Given the description of an element on the screen output the (x, y) to click on. 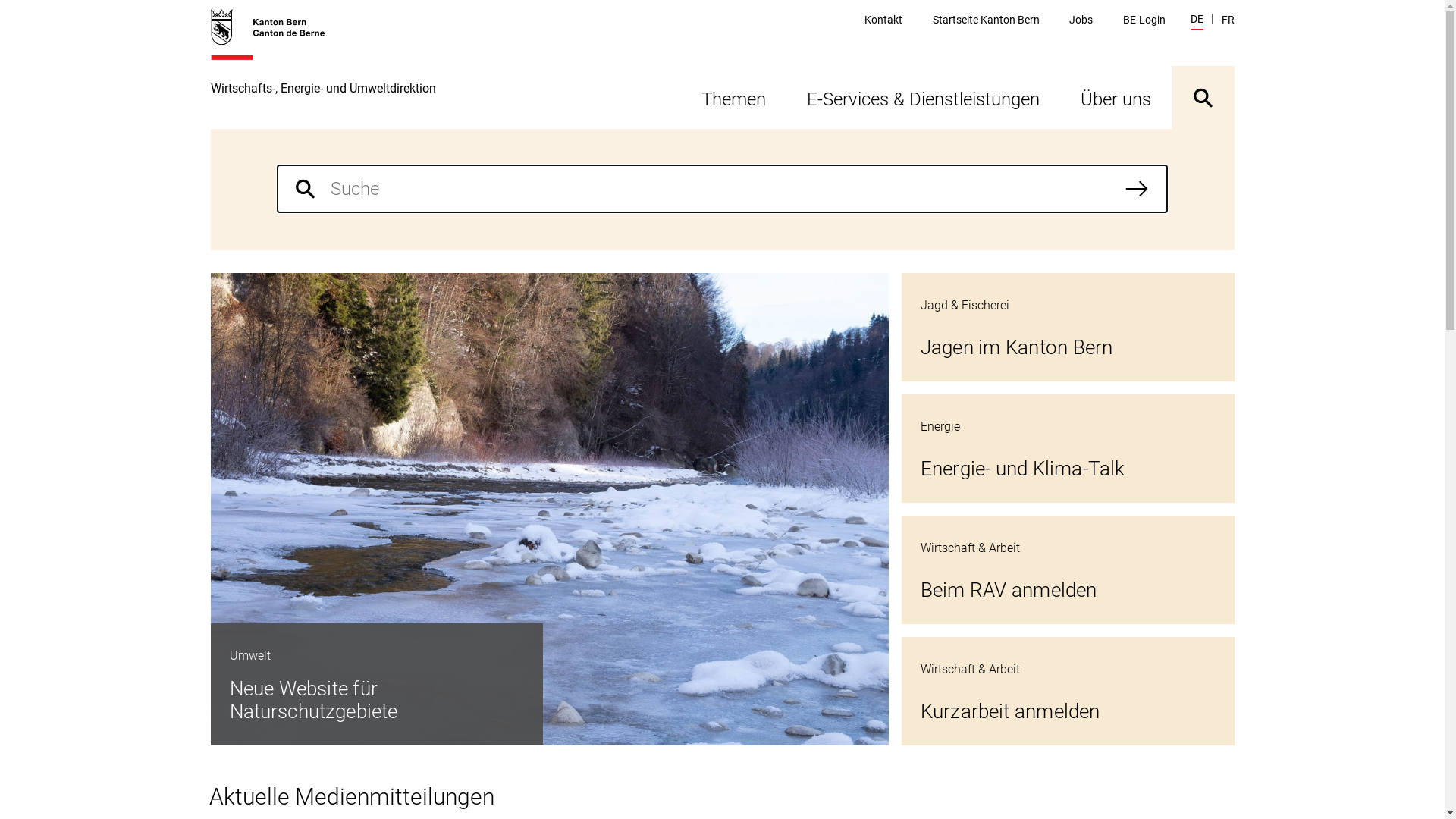
Energie- und Klima-Talk
Energie Element type: text (1067, 448)
Kontakt Element type: text (883, 19)
Jagen im Kanton Bern
Jagd & Fischerei Element type: text (1067, 327)
FR Element type: text (1226, 19)
Kurzarbeit anmelden
Wirtschaft & Arbeit Element type: text (1067, 691)
Suche ein- oder ausblenden Element type: text (1201, 96)
BE-Login Element type: text (1144, 19)
DE Element type: text (1196, 21)
Themen Element type: text (733, 96)
Jobs Element type: text (1080, 19)
Startseite Kanton Bern Element type: text (985, 19)
E-Services & Dienstleistungen Element type: text (922, 96)
Beim RAV anmelden
Wirtschaft & Arbeit Element type: text (1067, 569)
Suchen Element type: text (1136, 188)
Wirtschafts-, Energie- und Umweltdirektion Element type: text (323, 68)
